Given the description of an element on the screen output the (x, y) to click on. 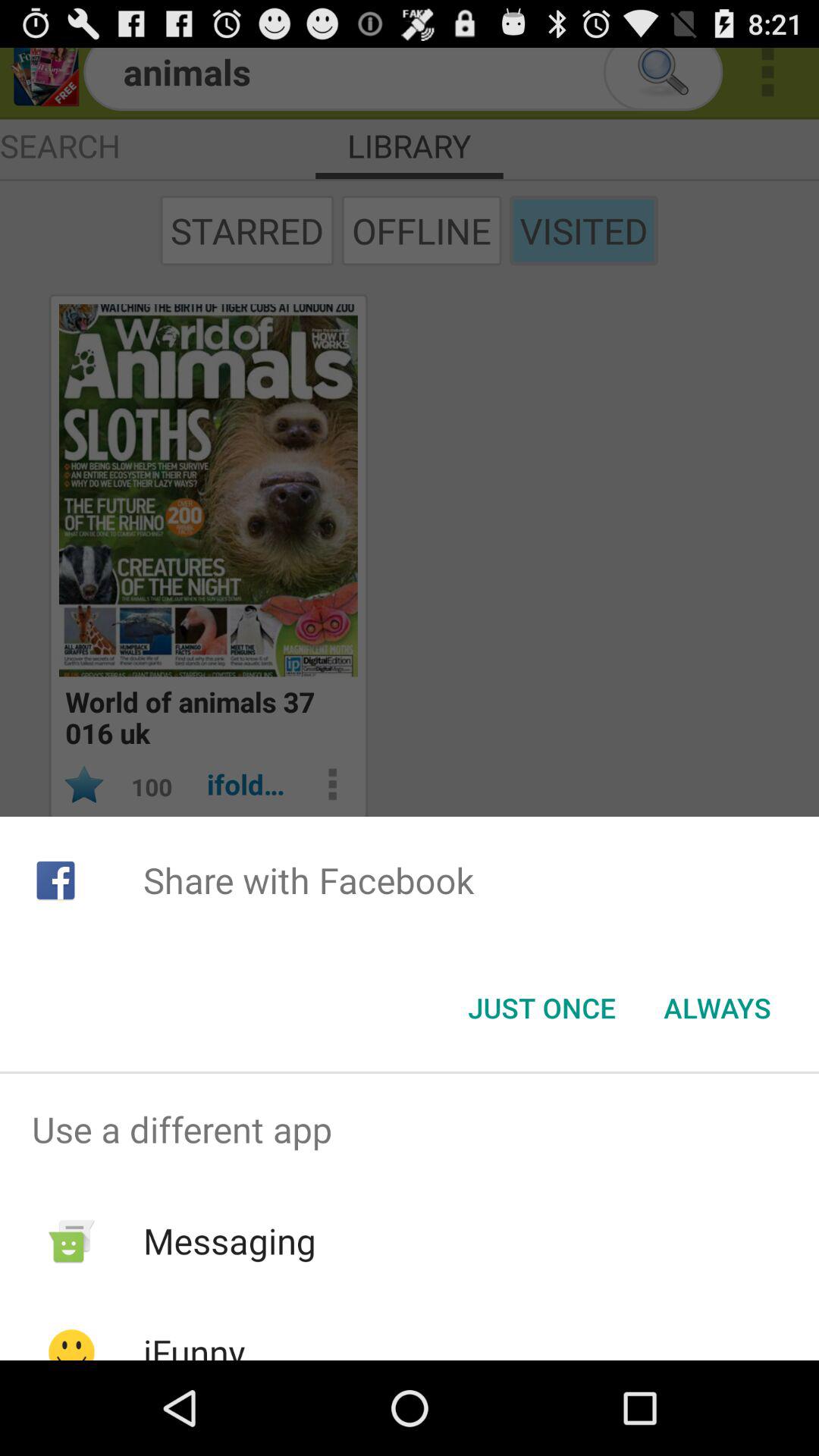
turn off item to the left of always item (541, 1007)
